Given the description of an element on the screen output the (x, y) to click on. 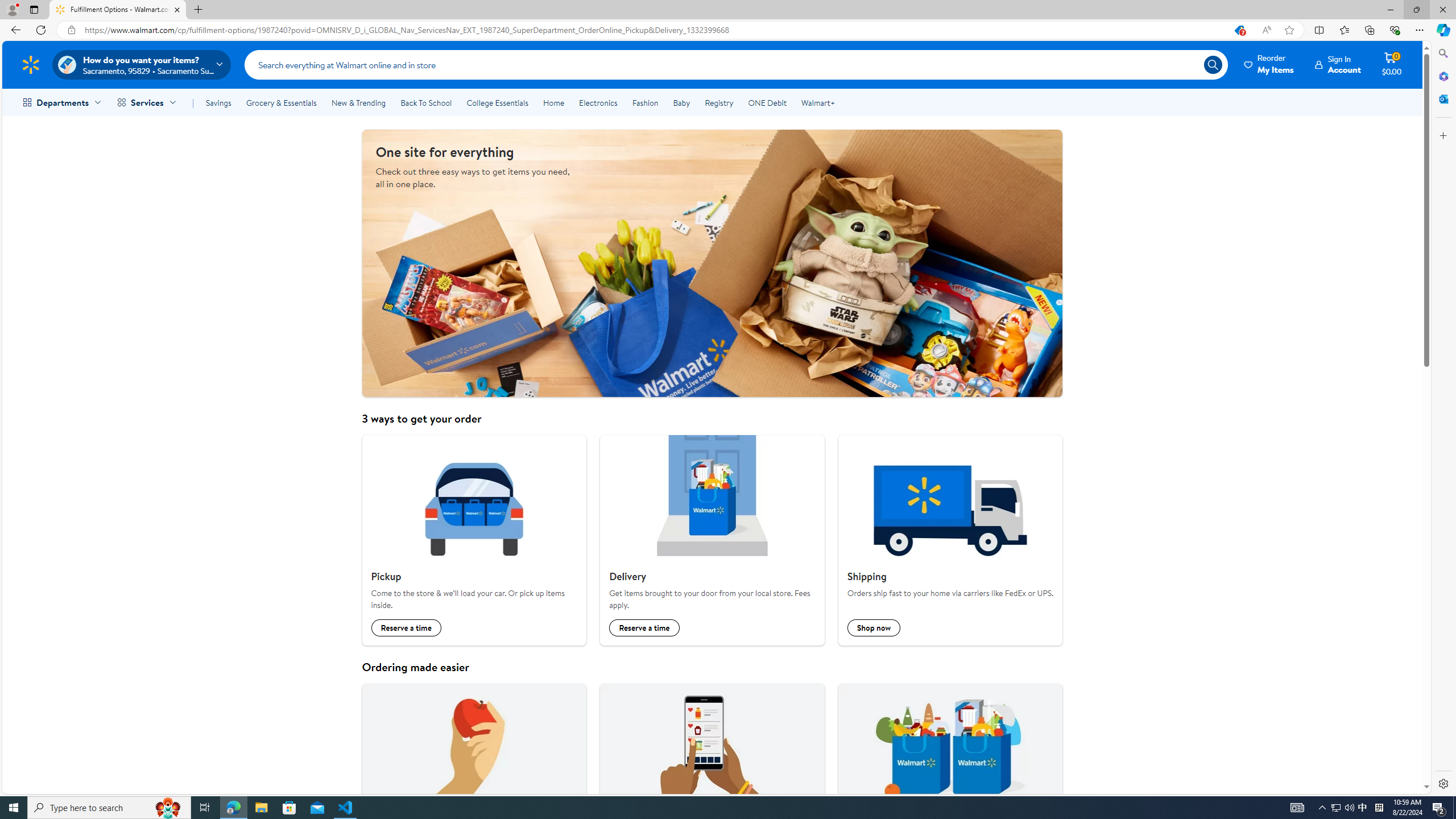
Grocery & Essentials (280, 102)
Savings (217, 102)
